Given the description of an element on the screen output the (x, y) to click on. 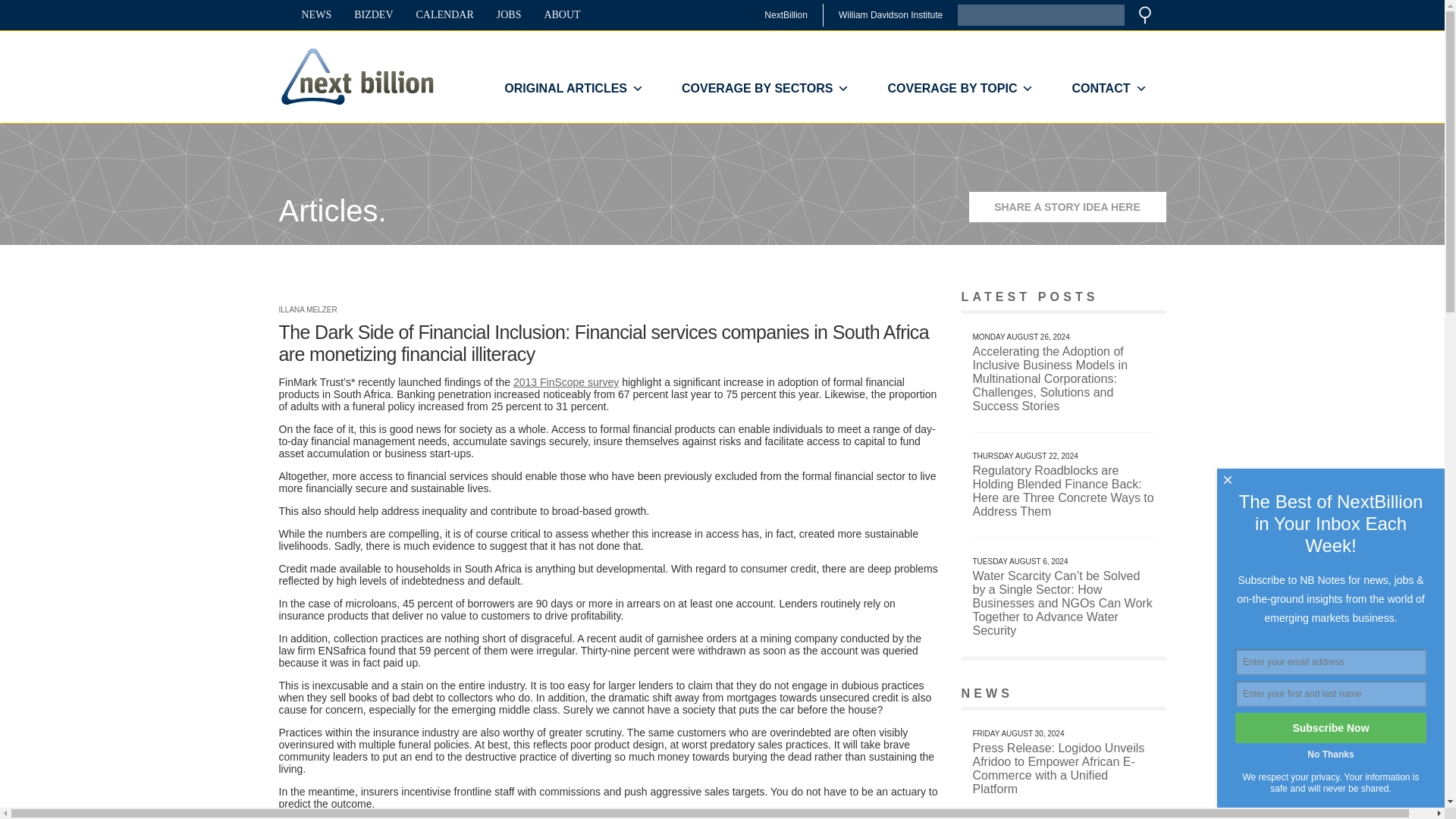
Subscribe Now (1330, 727)
COVERAGE BY TOPIC (959, 88)
COVERAGE BY SECTORS (764, 88)
ORIGINAL ARTICLES (573, 88)
